Given the description of an element on the screen output the (x, y) to click on. 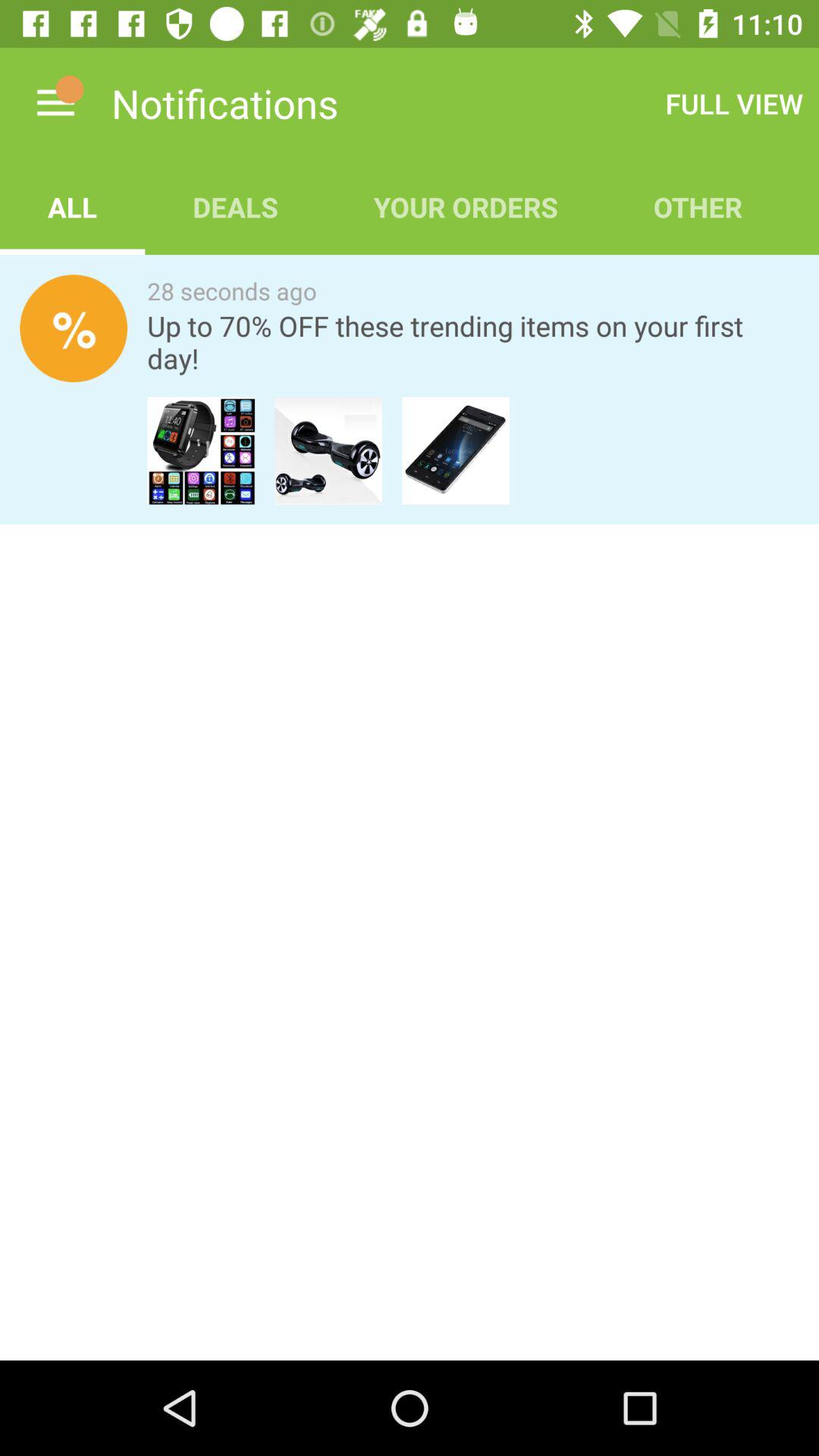
turn on item above all (55, 103)
